Given the description of an element on the screen output the (x, y) to click on. 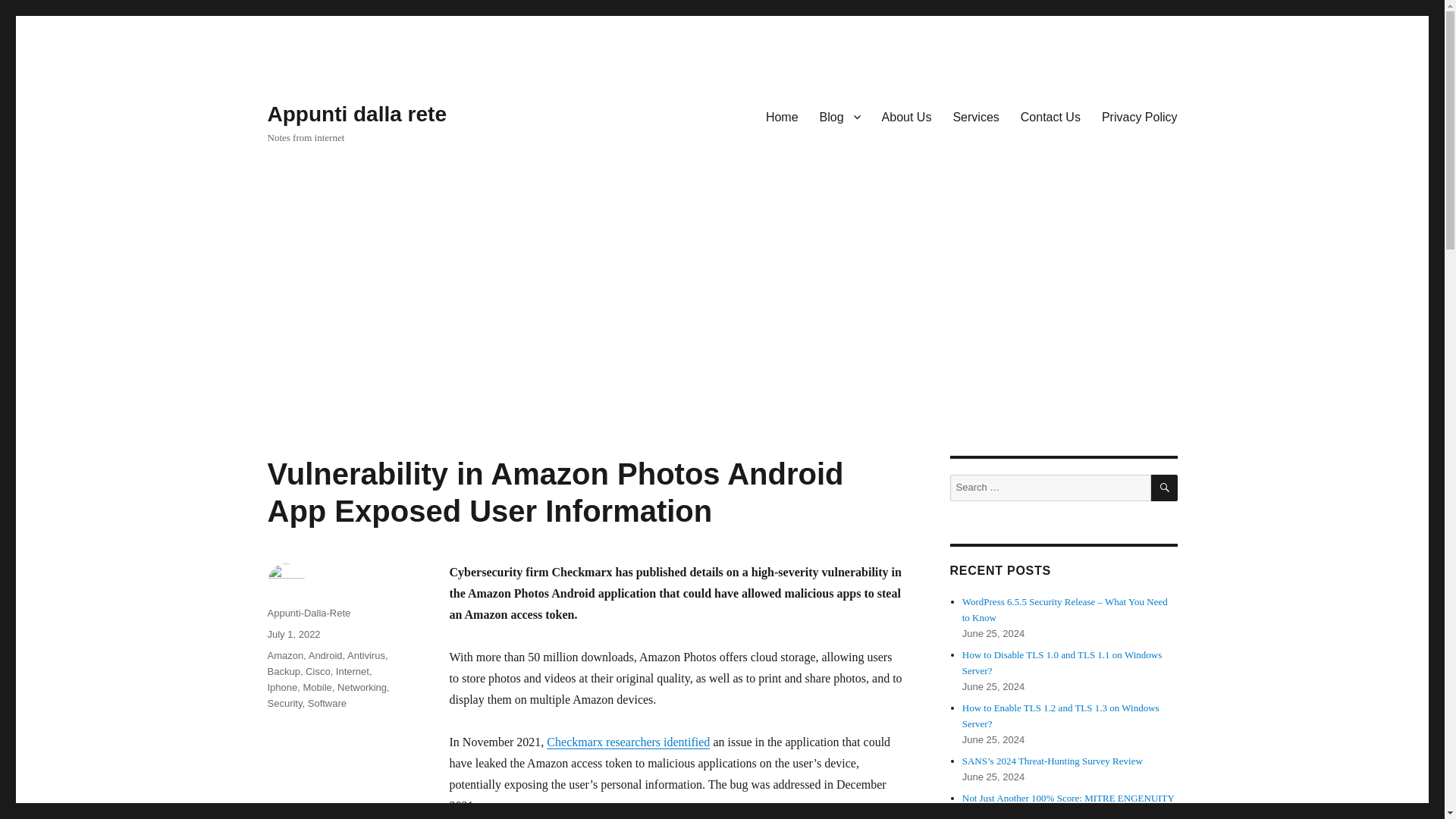
Contact Us (1050, 116)
Antivirus (366, 655)
Blog (839, 116)
Checkmarx researchers identified (628, 741)
Appunti dalla rete (355, 114)
Home (782, 116)
Android (325, 655)
Appunti-Dalla-Rete (308, 613)
Cisco (317, 671)
Backup (282, 671)
Services (975, 116)
Privacy Policy (1139, 116)
Internet (352, 671)
July 1, 2022 (293, 633)
